Given the description of an element on the screen output the (x, y) to click on. 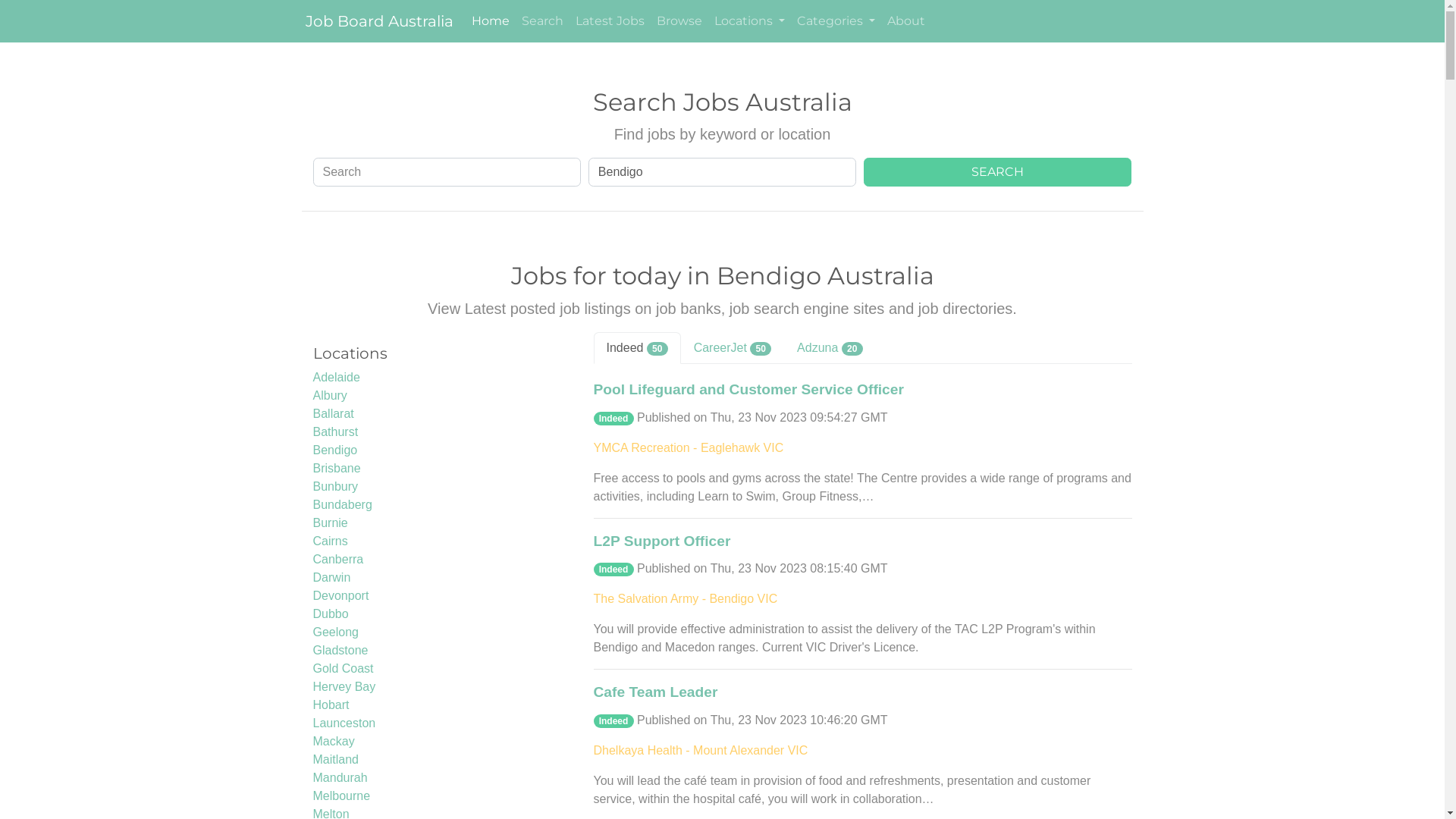
Search Element type: text (542, 21)
CareerJet 50 Element type: text (732, 348)
Home Element type: text (490, 21)
Adzuna 20 Element type: text (829, 348)
Locations Element type: text (749, 21)
Brisbane Element type: text (336, 467)
Mandurah Element type: text (339, 777)
Bendigo Element type: text (334, 449)
Adelaide Element type: text (335, 376)
Browse Element type: text (679, 21)
Canberra Element type: text (337, 558)
Bathurst Element type: text (334, 431)
Burnie Element type: text (329, 522)
Ballarat Element type: text (332, 413)
Cafe Team Leader Element type: text (655, 692)
SEARCH Element type: text (997, 171)
Melbourne Element type: text (341, 795)
Albury Element type: text (329, 395)
Latest Jobs Element type: text (608, 21)
Pool Lifeguard and Customer Service Officer Element type: text (748, 390)
Launceston Element type: text (343, 722)
Dubbo Element type: text (330, 613)
Bundaberg Element type: text (341, 504)
L2P Support Officer Element type: text (661, 541)
Geelong Element type: text (335, 631)
About Element type: text (906, 21)
Mackay Element type: text (333, 740)
Categories Element type: text (835, 21)
Bunbury Element type: text (334, 486)
Gold Coast Element type: text (342, 668)
 Job Board Australia Element type: text (377, 21)
Hervey Bay Element type: text (343, 686)
Gladstone Element type: text (339, 649)
Devonport Element type: text (340, 595)
Darwin Element type: text (331, 577)
Indeed 50 Element type: text (636, 348)
Hobart Element type: text (330, 704)
Maitland Element type: text (334, 759)
Cairns Element type: text (329, 540)
